Given the description of an element on the screen output the (x, y) to click on. 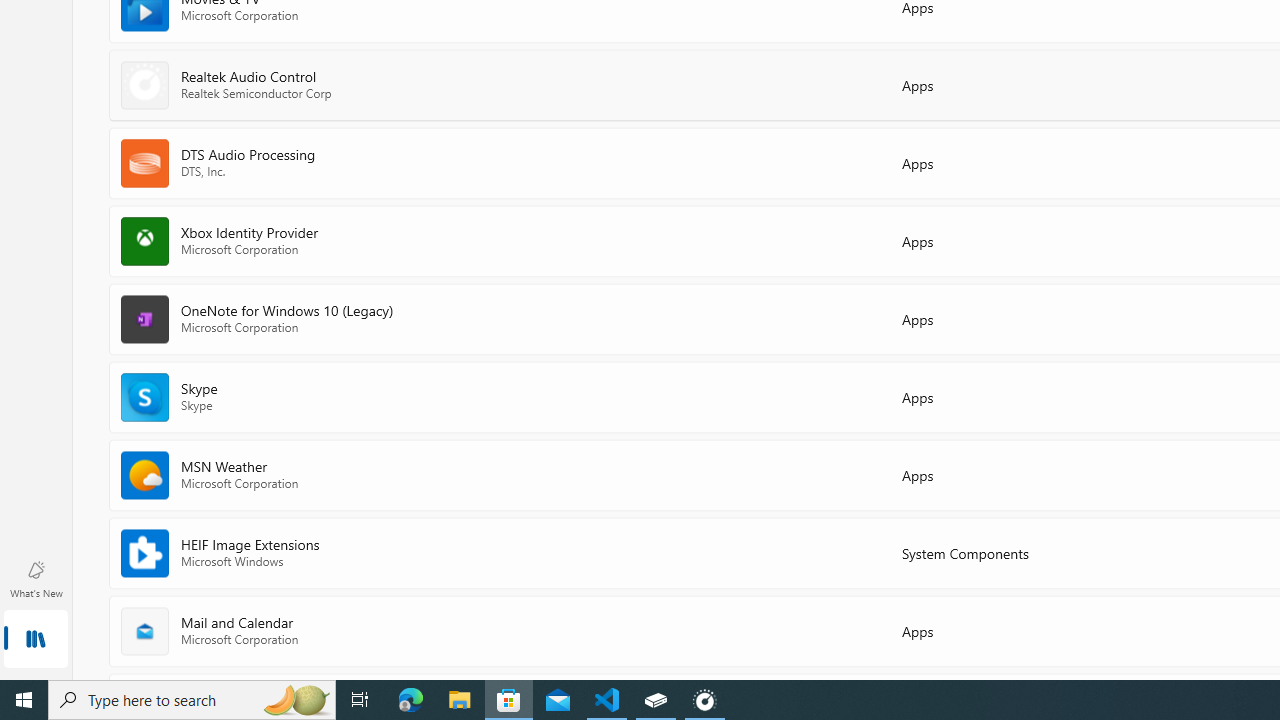
Library (35, 640)
What's New (35, 578)
